Given the description of an element on the screen output the (x, y) to click on. 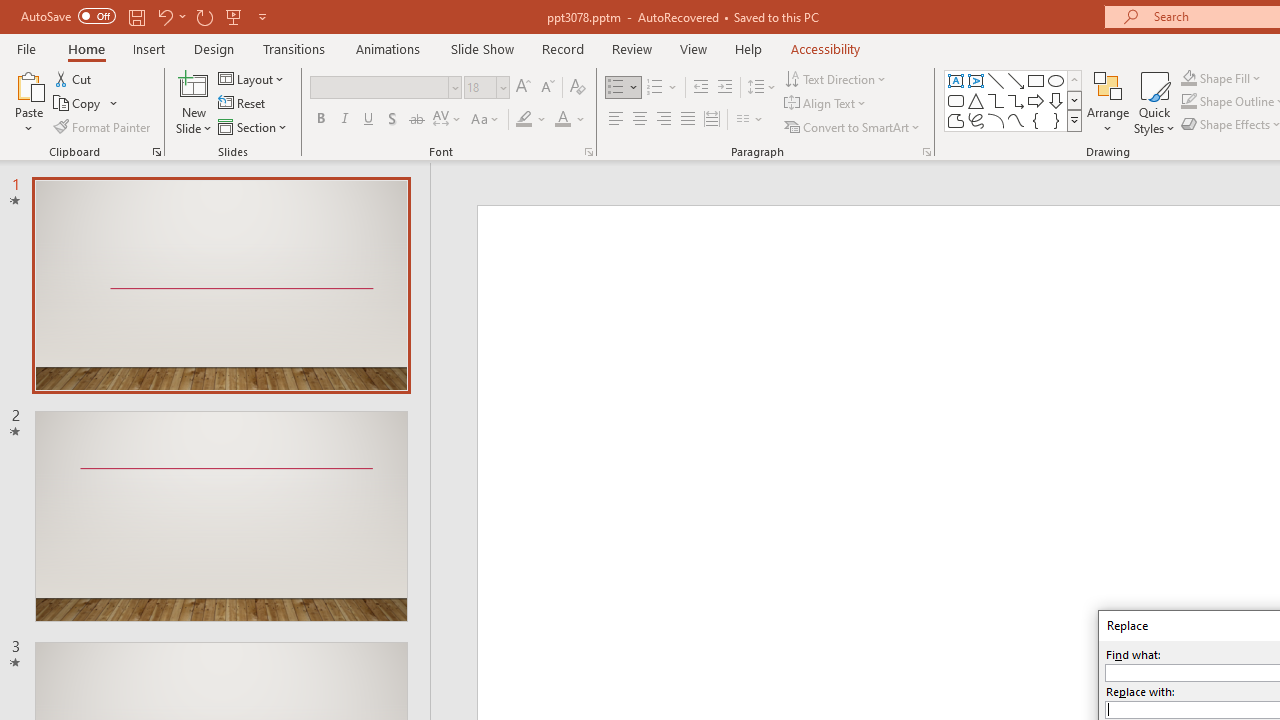
Underline (369, 119)
Text Highlight Color Yellow (524, 119)
Connector: Elbow Arrow (1016, 100)
Format Painter (103, 126)
Rectangle: Rounded Corners (955, 100)
Paragraph... (926, 151)
Open (502, 87)
Rectangle (1035, 80)
Align Right (663, 119)
Font Color (569, 119)
Change Case (486, 119)
